Given the description of an element on the screen output the (x, y) to click on. 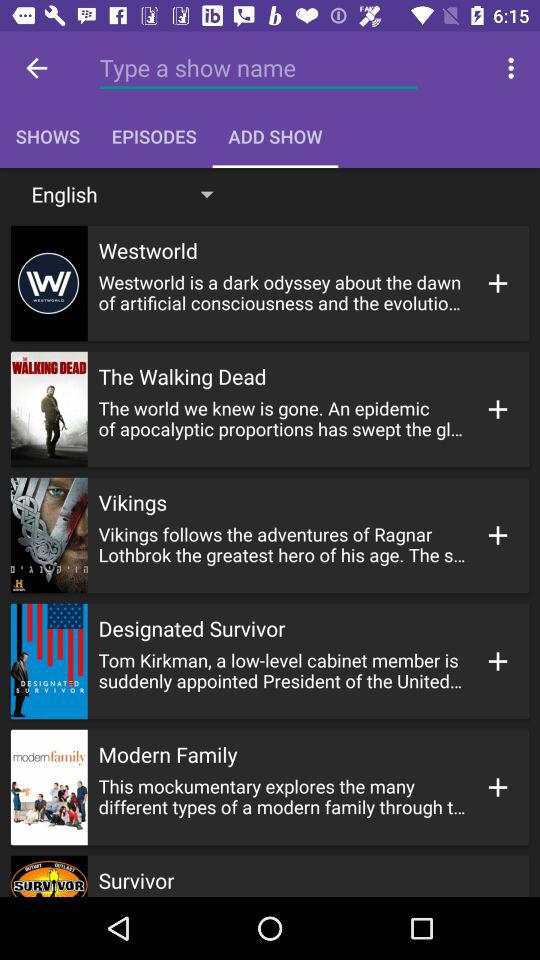
turn off icon above shows (36, 68)
